Given the description of an element on the screen output the (x, y) to click on. 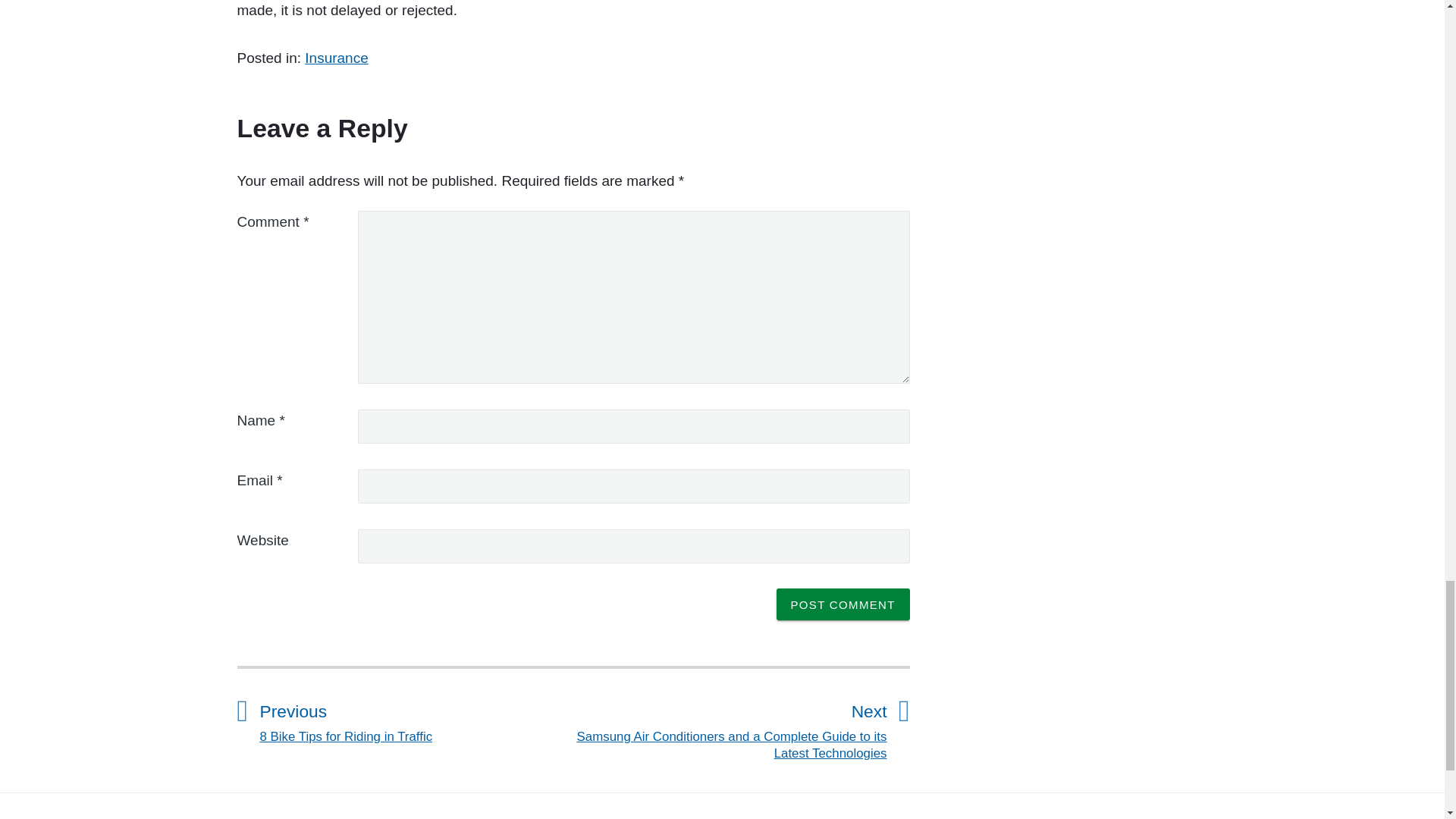
Post Comment (843, 603)
Insurance (336, 57)
Post Comment (843, 603)
